Given the description of an element on the screen output the (x, y) to click on. 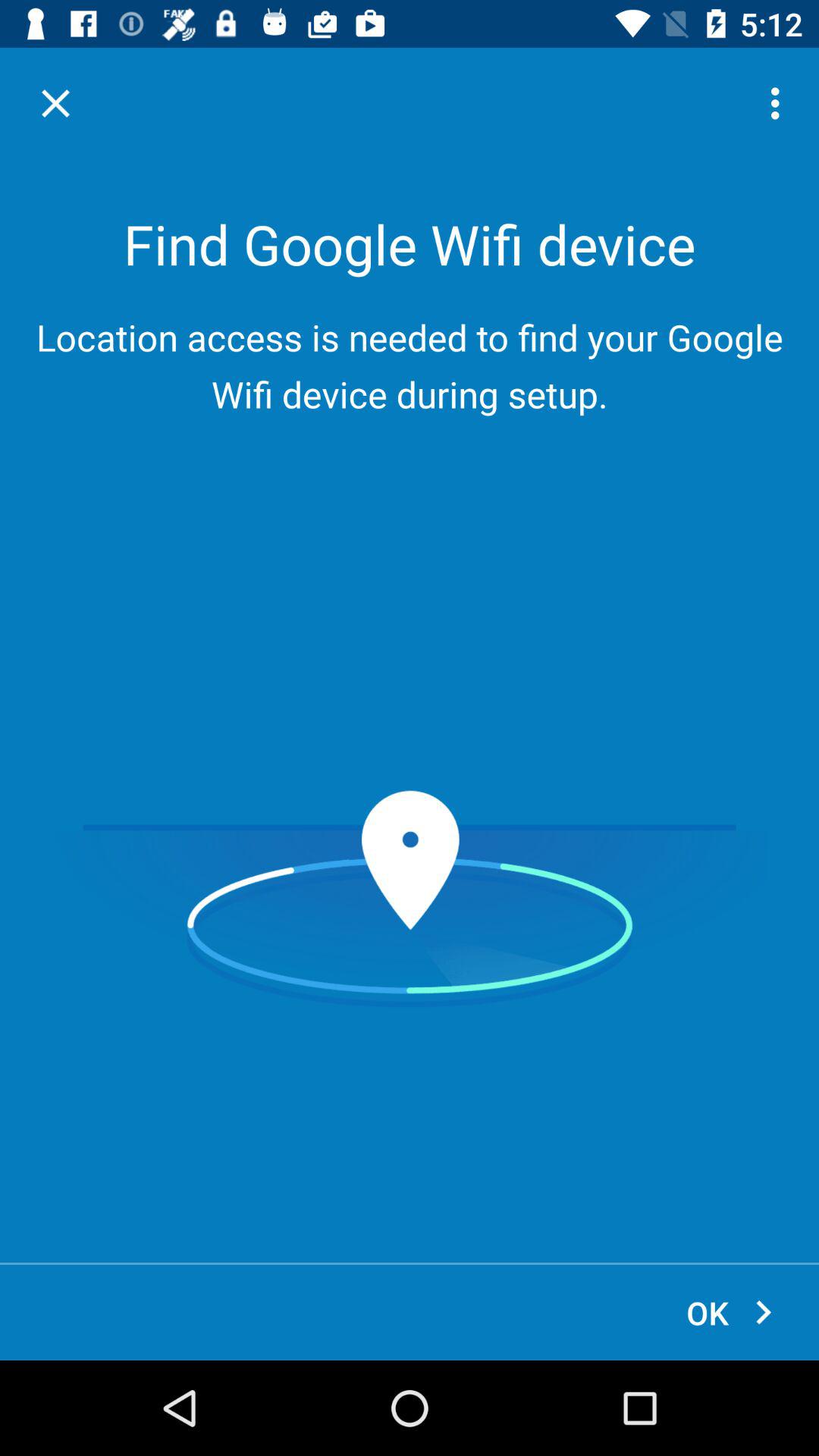
swipe to the ok (731, 1312)
